Given the description of an element on the screen output the (x, y) to click on. 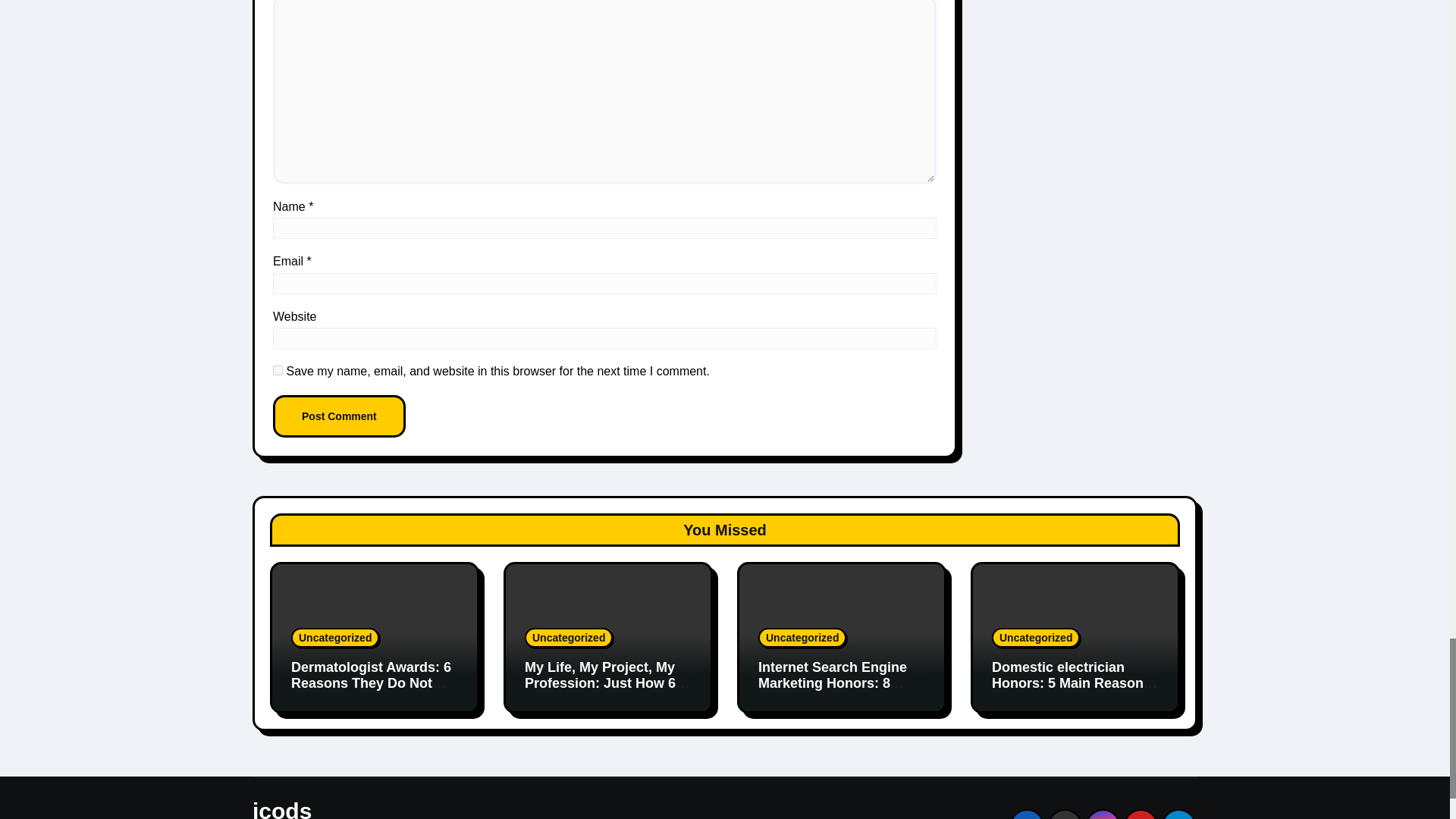
yes (277, 370)
Post Comment (339, 415)
